Given the description of an element on the screen output the (x, y) to click on. 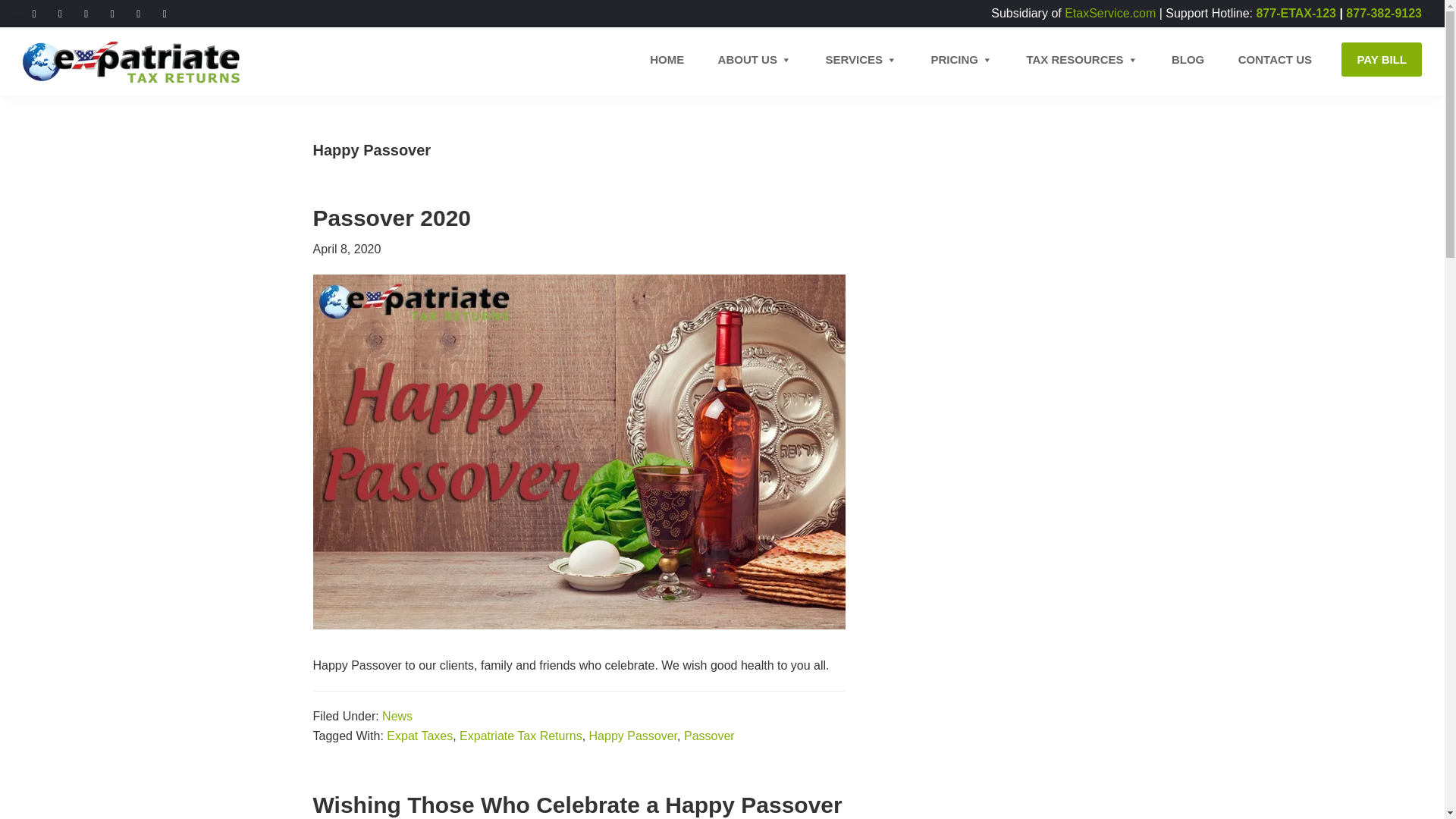
linkedin (164, 12)
EtaxService.com (1110, 12)
twitter (59, 12)
HOME (666, 59)
Facebook (34, 12)
Instagram (86, 12)
BLOG (1188, 59)
TAX RESOURCES (1081, 59)
ABOUT US (754, 59)
SERVICES (860, 59)
Default Label (111, 12)
Twitter (59, 12)
facebook (34, 12)
youtube (86, 12)
